Given the description of an element on the screen output the (x, y) to click on. 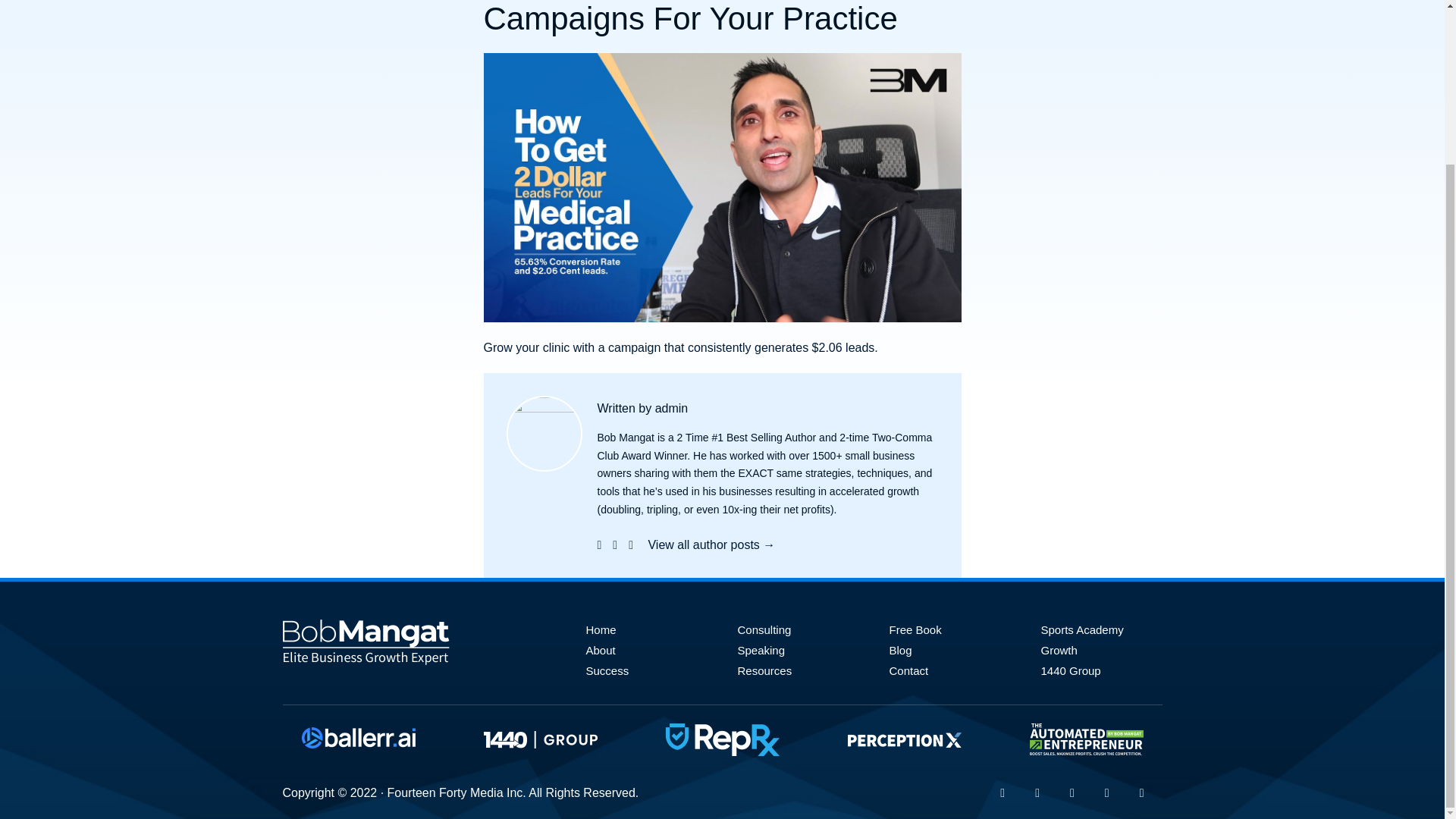
View all author posts (710, 544)
Home (600, 629)
Success (606, 670)
Consulting (763, 629)
About (599, 649)
Resources (764, 670)
Blog (899, 649)
1440 Group (1070, 670)
Free Book (914, 629)
Sports Academy Growth (1081, 639)
Speaking (760, 649)
Contact (908, 670)
